Given the description of an element on the screen output the (x, y) to click on. 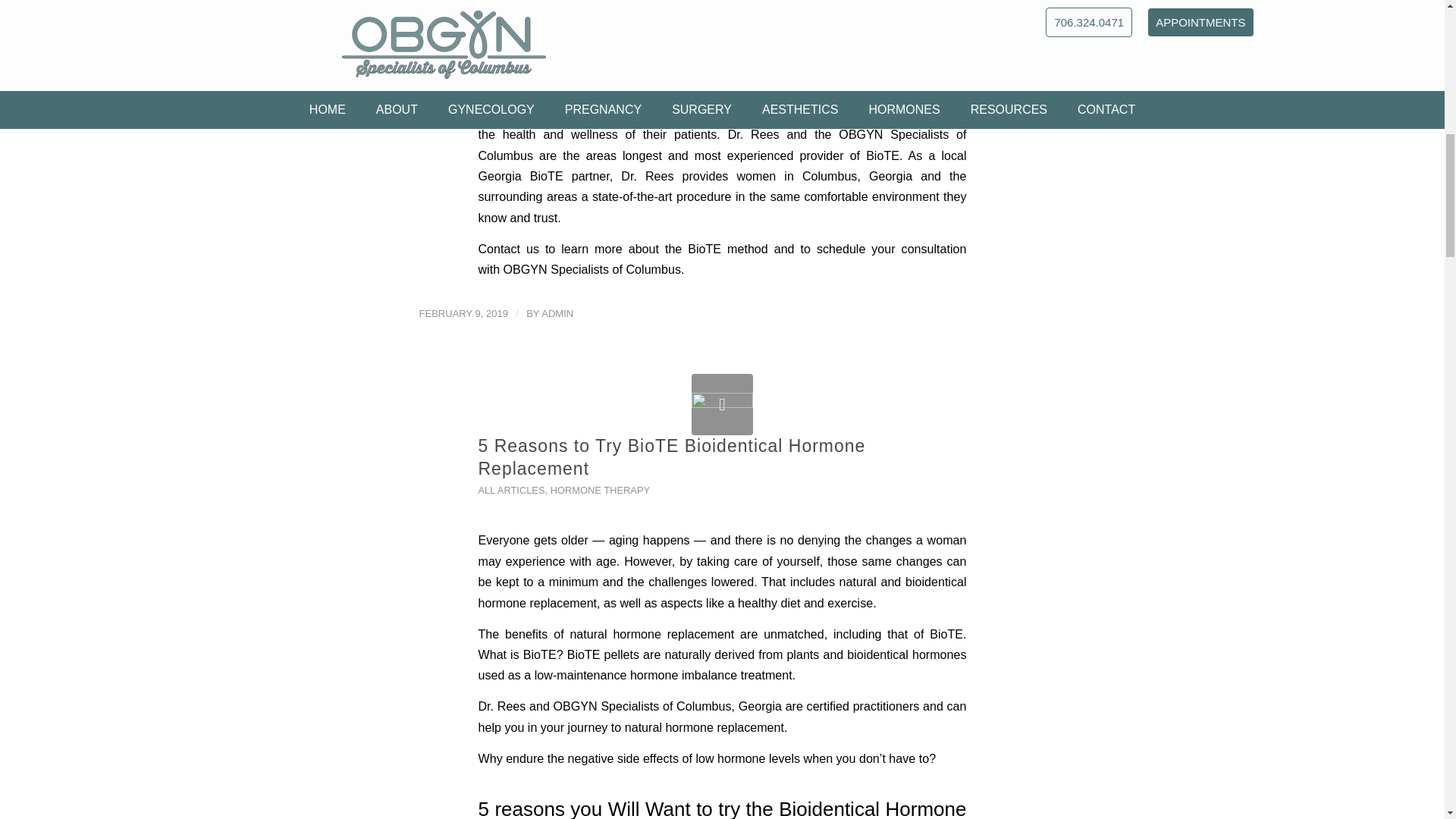
Posts by admin (557, 313)
blog-12 (721, 403)
